Given the description of an element on the screen output the (x, y) to click on. 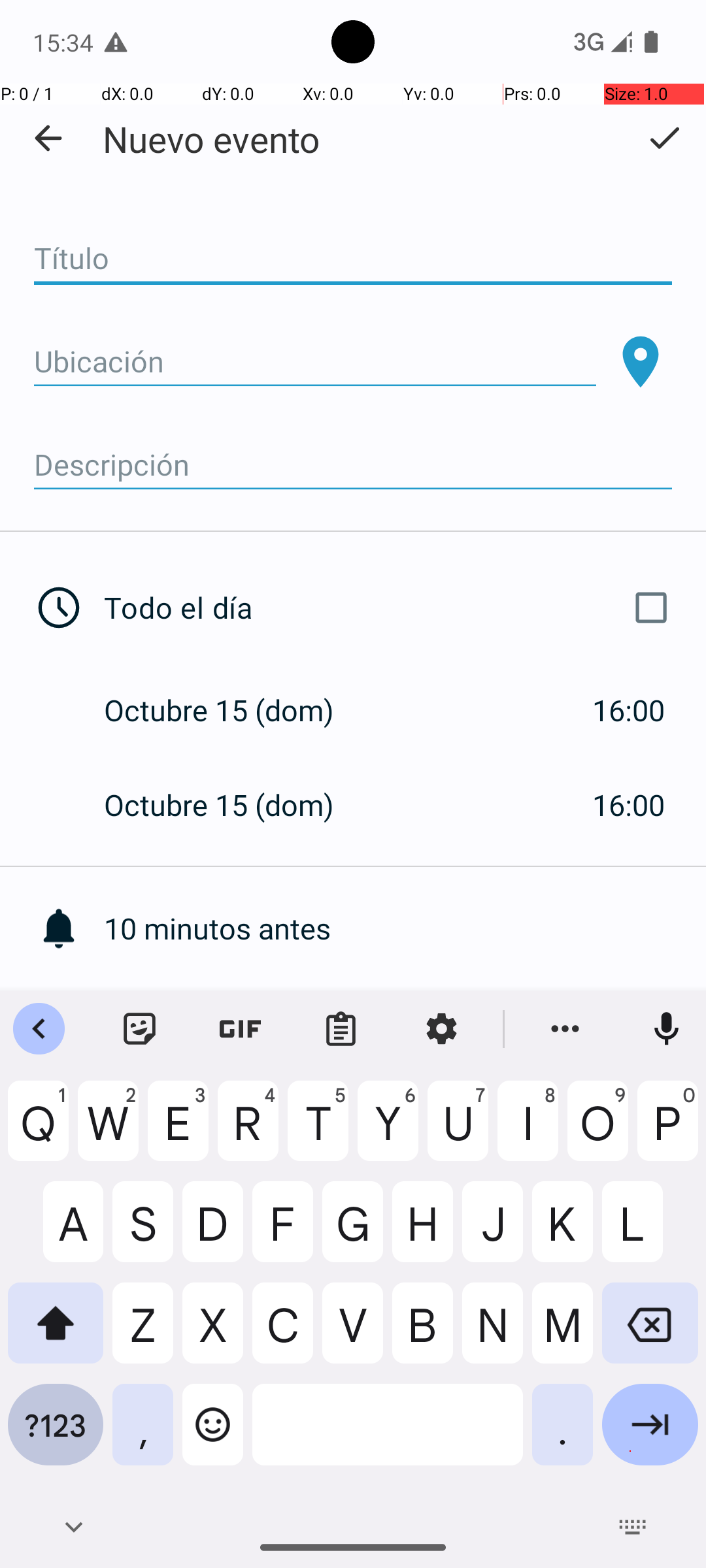
Título Element type: android.widget.EditText (352, 258)
Ubicación Element type: android.widget.EditText (314, 361)
Descripción Element type: android.widget.EditText (352, 465)
